Given the description of an element on the screen output the (x, y) to click on. 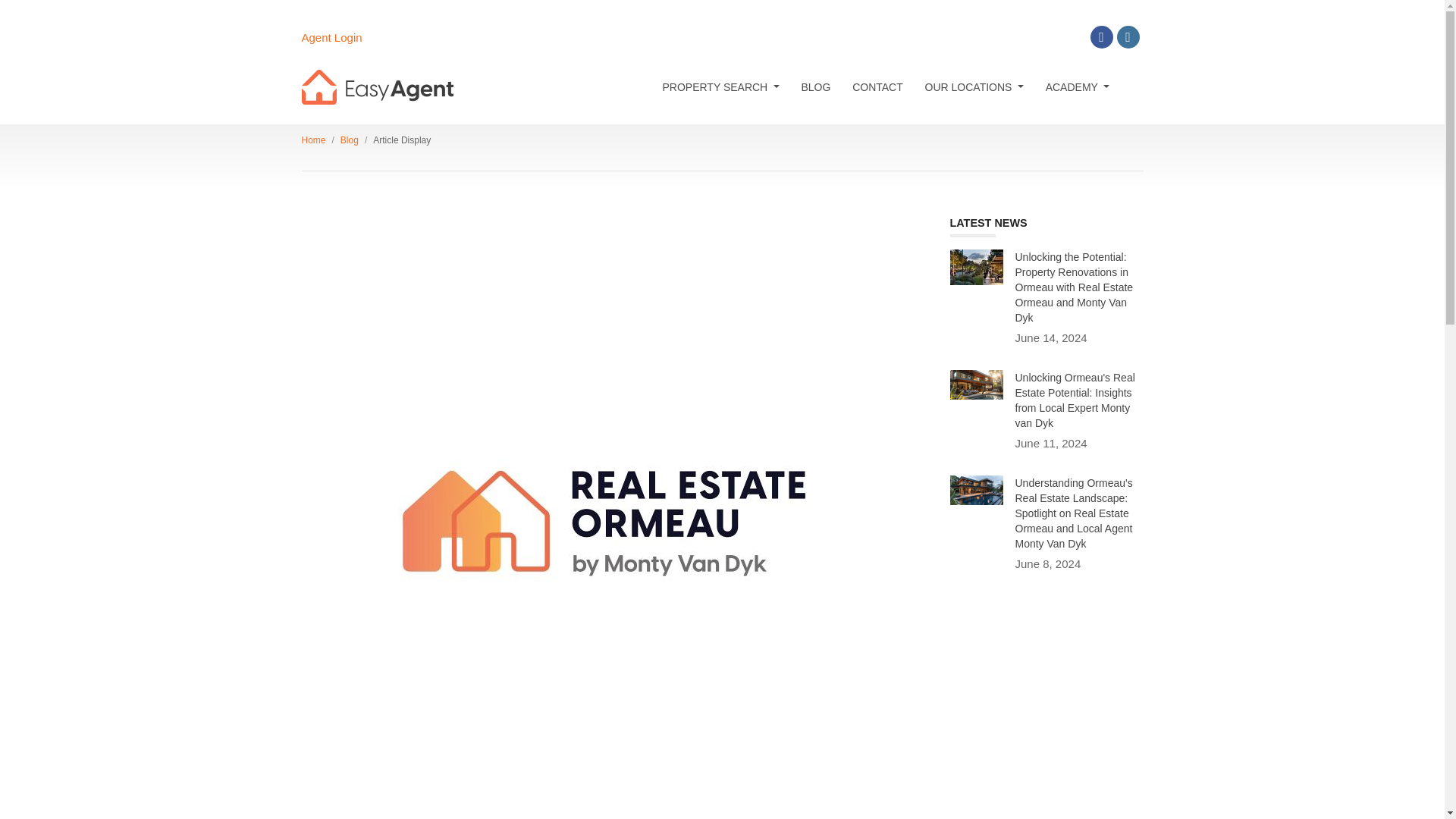
BLOG (815, 86)
Blog (349, 140)
Agent Login (331, 37)
Home (313, 140)
Article Display (401, 140)
OUR LOCATIONS (973, 86)
CONTACT (877, 86)
ACADEMY (1076, 86)
PROPERTY SEARCH (720, 86)
